Given the description of an element on the screen output the (x, y) to click on. 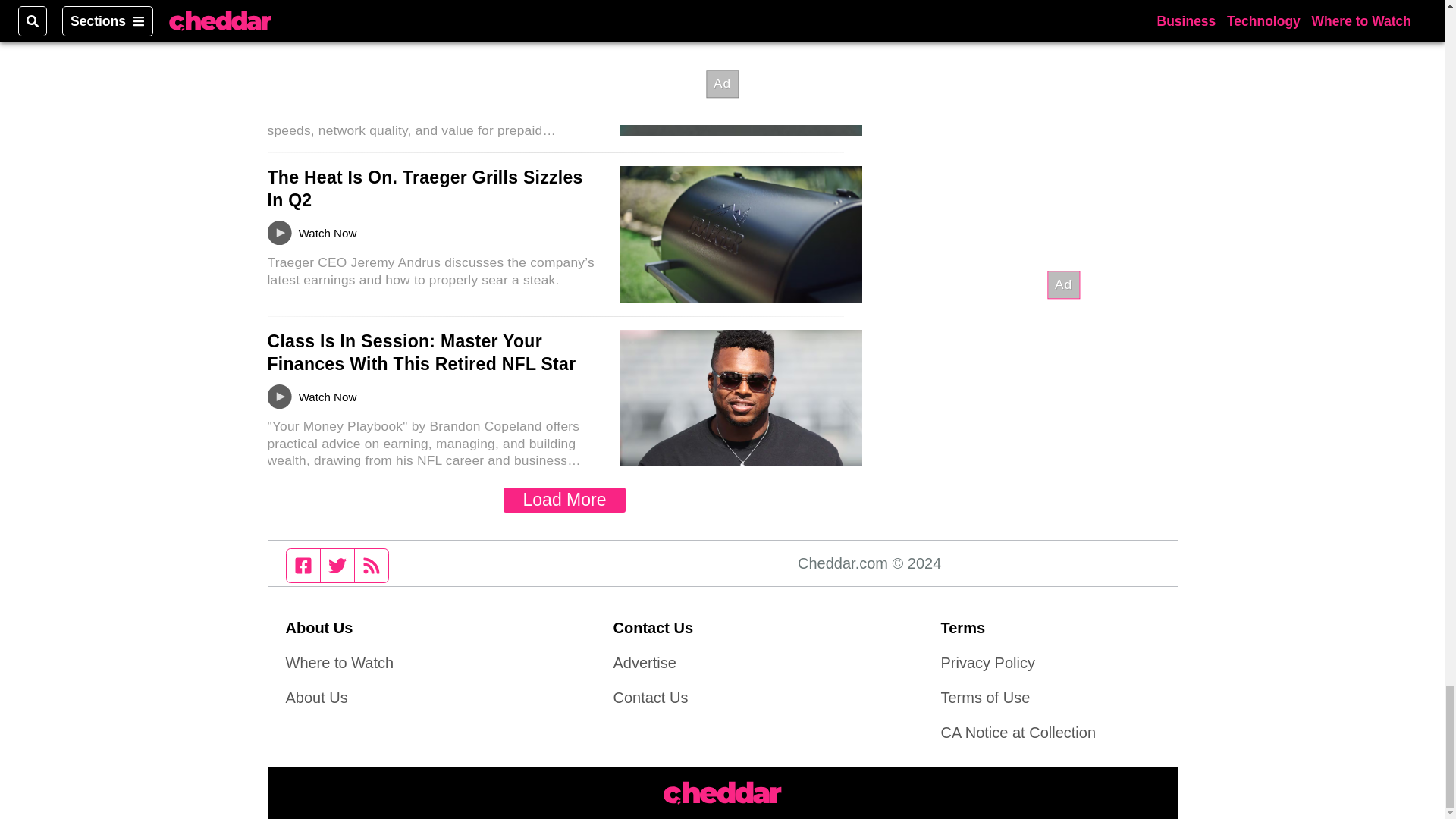
RSS feed (371, 565)
Twitter feed (336, 565)
Total Wireless Goes Big On Customer Satisfaction (427, 21)
The Heat Is On. Traeger Grills Sizzles In Q2 (424, 188)
Facebook page (303, 565)
